Given the description of an element on the screen output the (x, y) to click on. 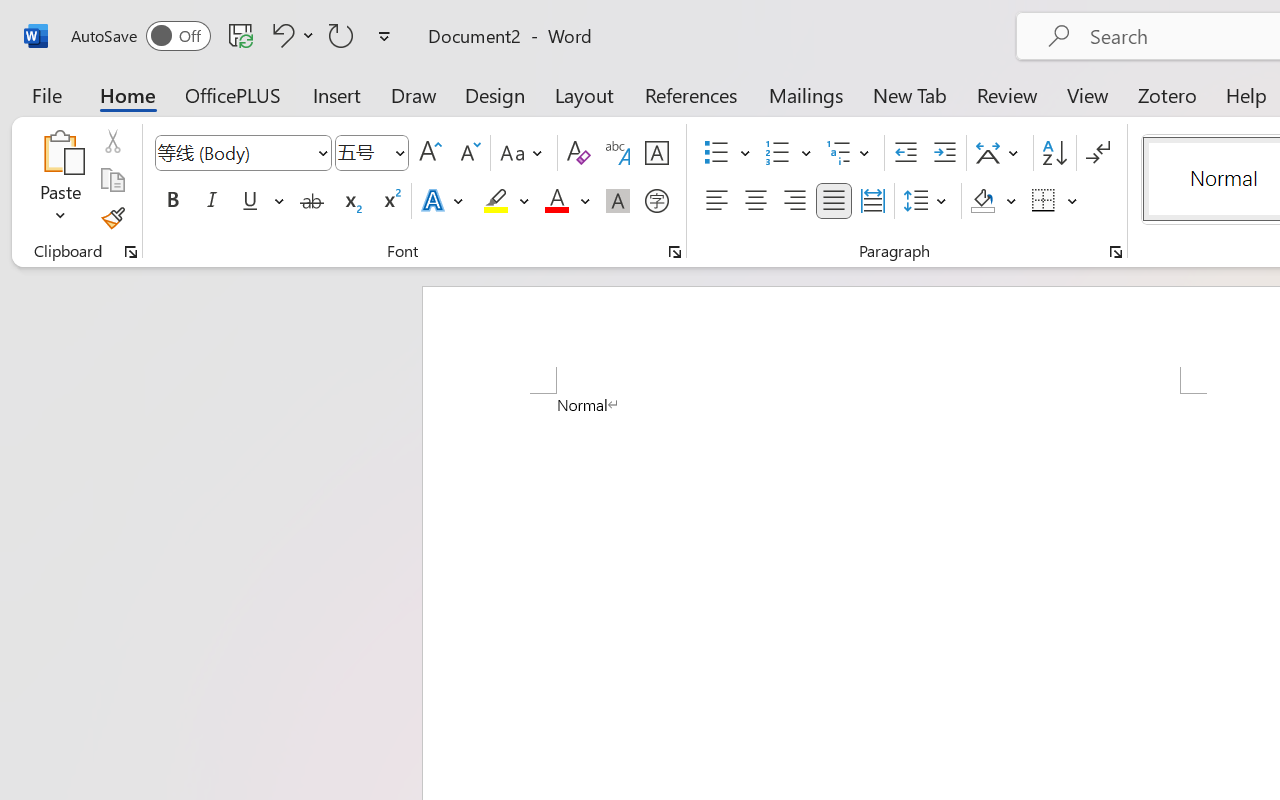
Align Left (716, 201)
Insert (337, 94)
